Given the description of an element on the screen output the (x, y) to click on. 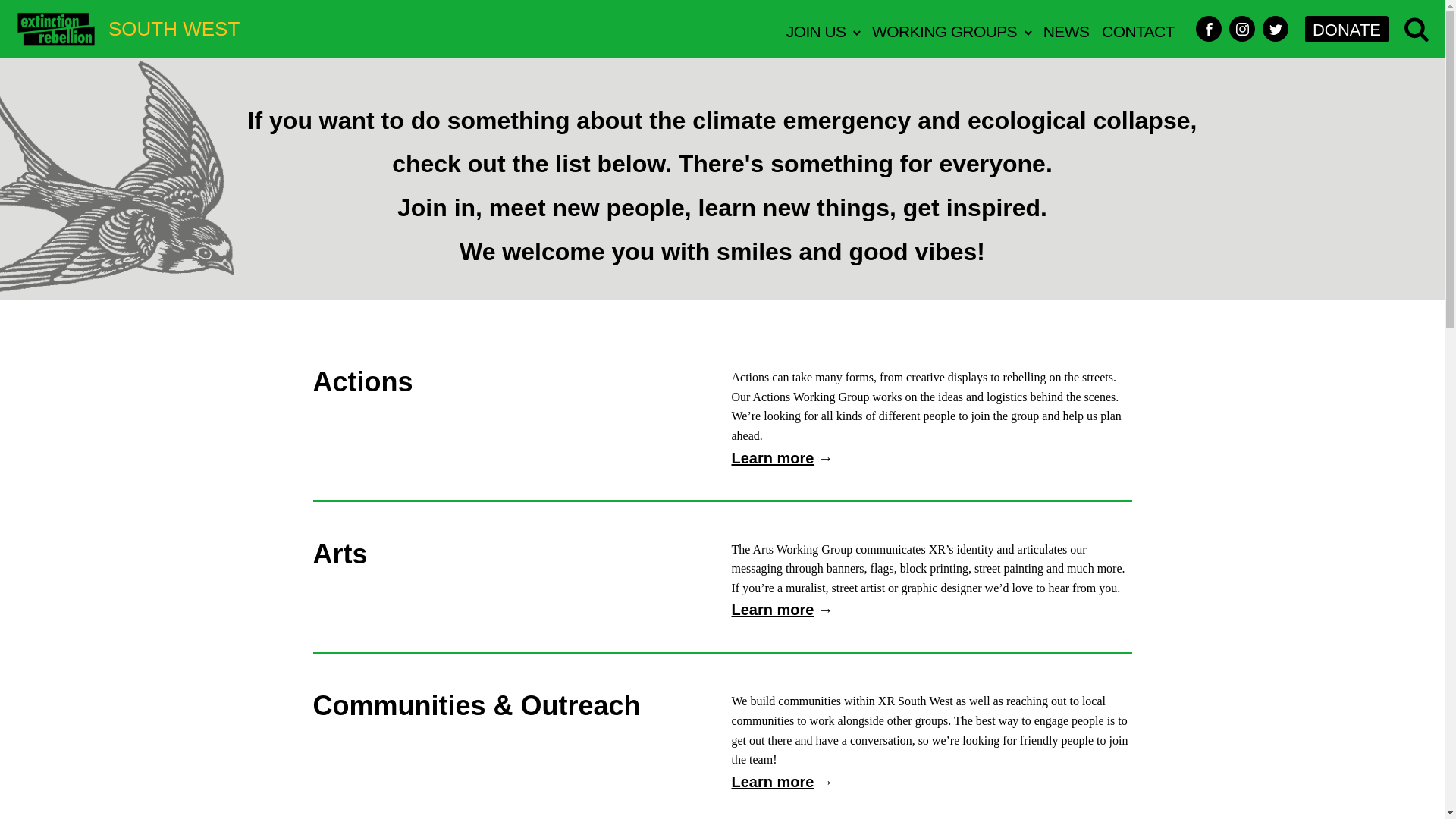
CONTACT (1138, 29)
WORKING GROUPS (951, 29)
Learn more (771, 781)
Learn more (771, 609)
SOUTH WEST (127, 29)
Learn more (771, 457)
DONATE (1346, 28)
JOIN US (822, 29)
